Given the description of an element on the screen output the (x, y) to click on. 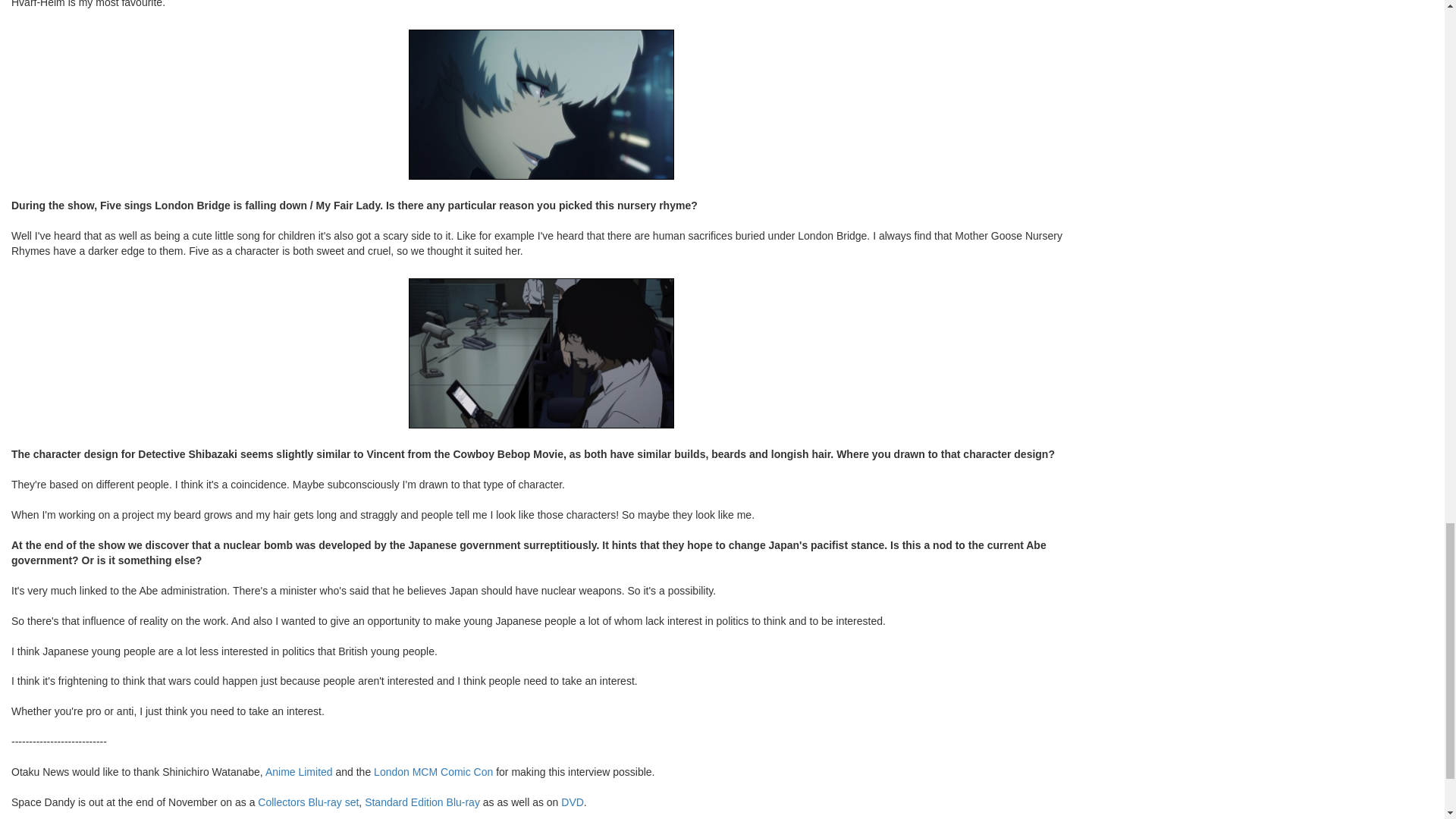
London MCM Comic Con (433, 771)
Anime Limited (298, 771)
Collectors Blu-ray set (307, 802)
Standard Edition Blu-ray (422, 802)
DVD (571, 802)
